Given the description of an element on the screen output the (x, y) to click on. 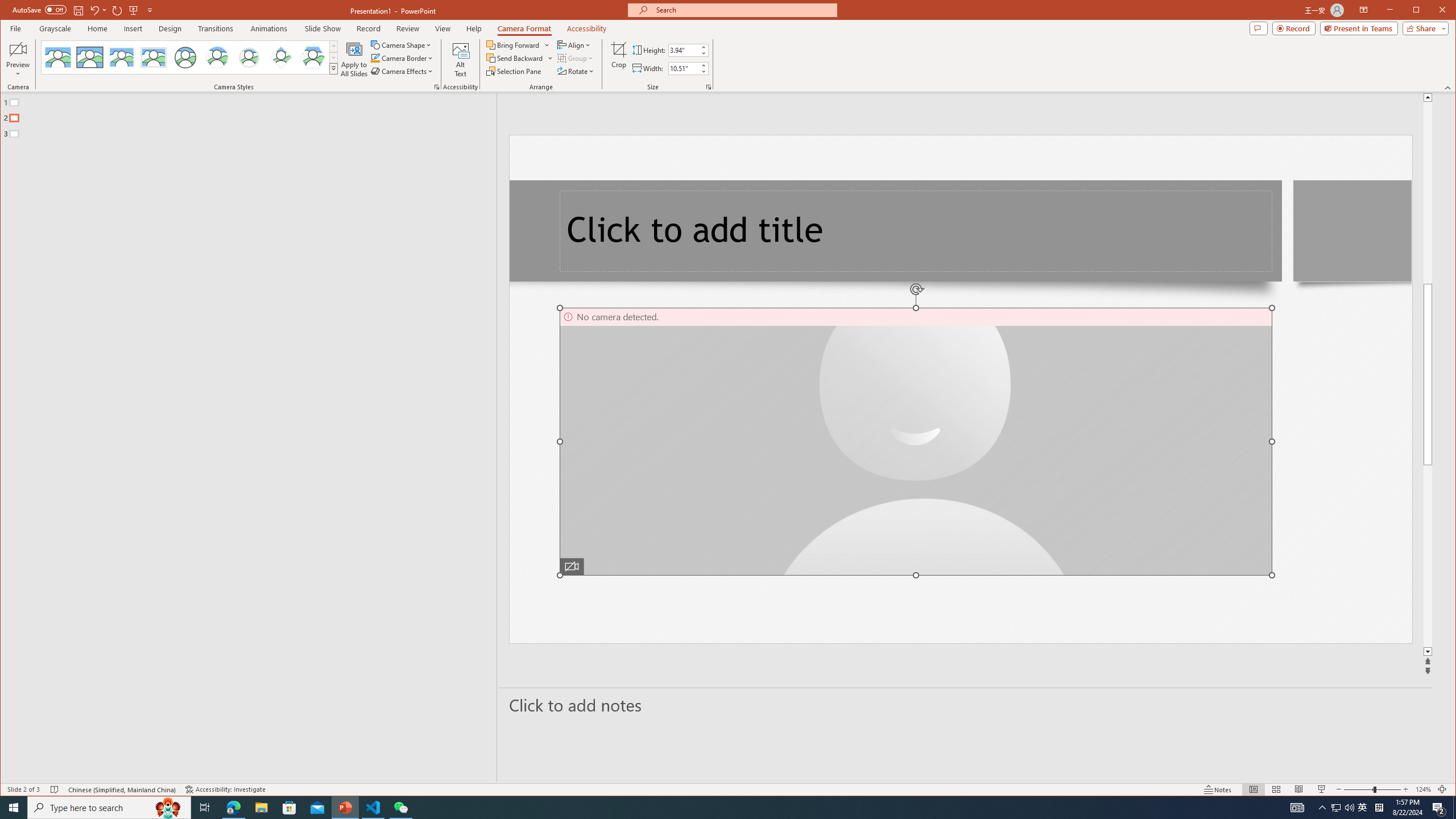
Soft Edge Circle (248, 57)
Camera Border Blue, Accent 1 (375, 57)
